Given the description of an element on the screen output the (x, y) to click on. 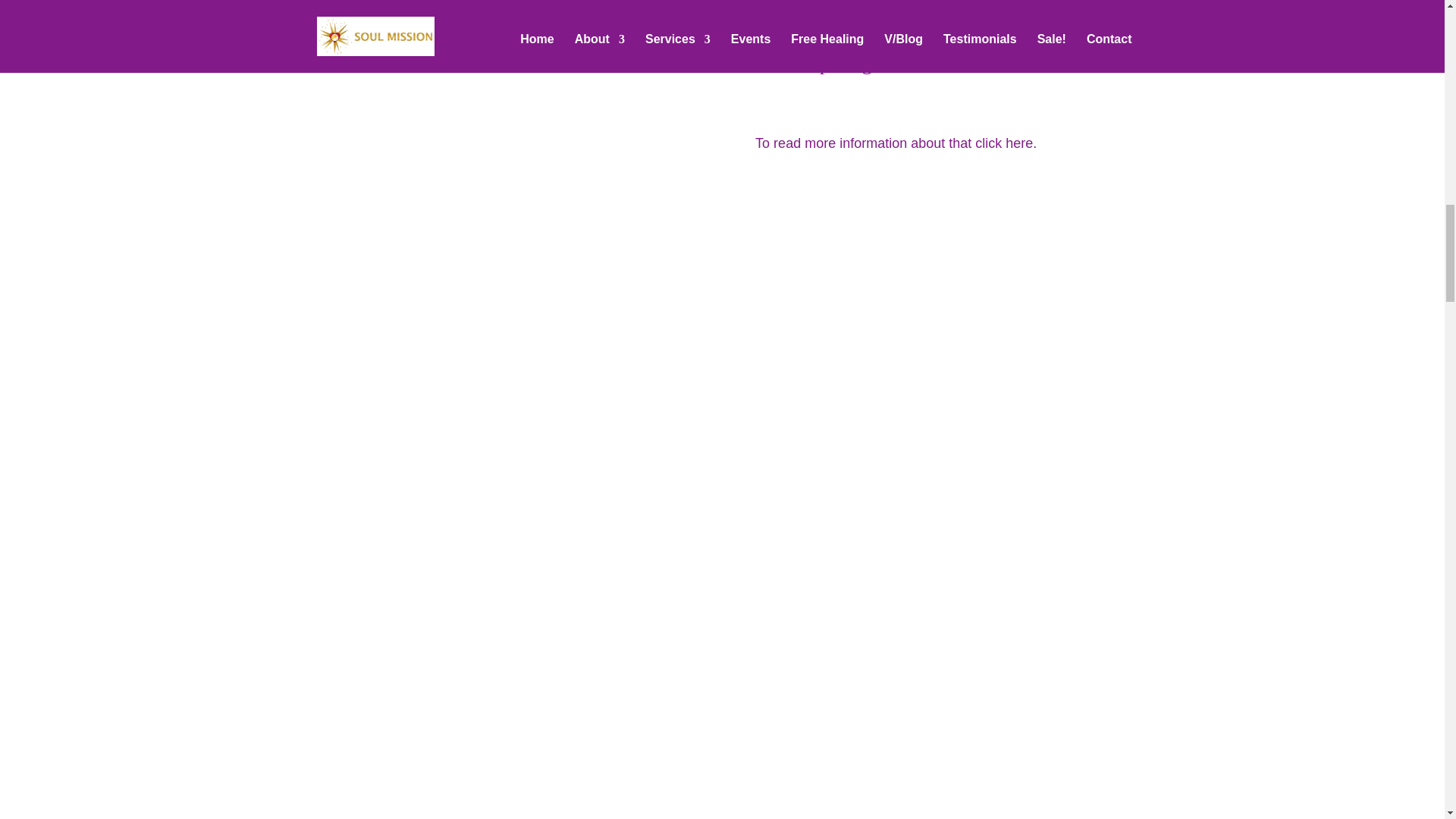
To read more information about that click here. (895, 142)
